Given the description of an element on the screen output the (x, y) to click on. 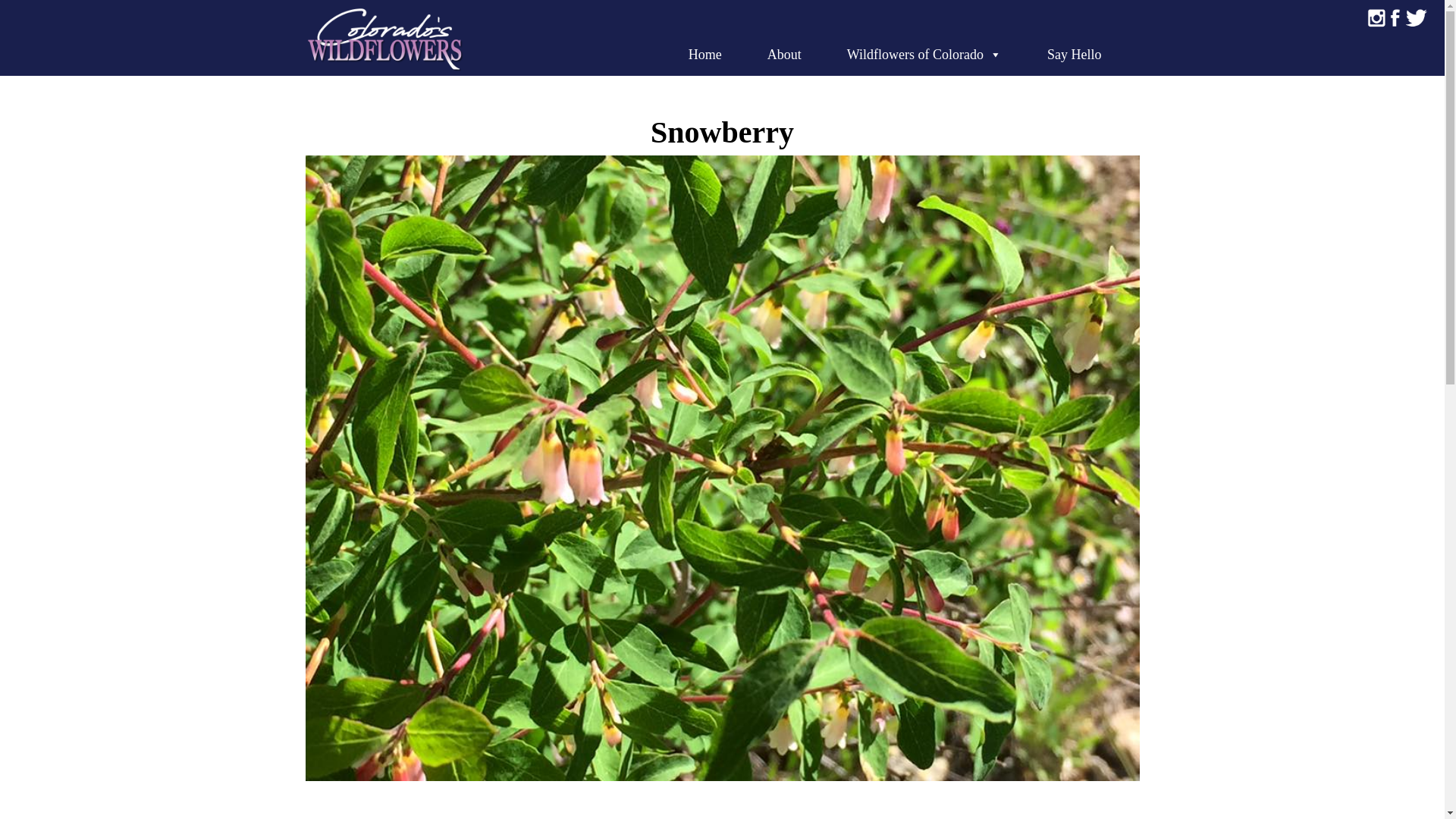
About (784, 54)
Home (705, 54)
Wildflowers of Colorado (924, 54)
